Given the description of an element on the screen output the (x, y) to click on. 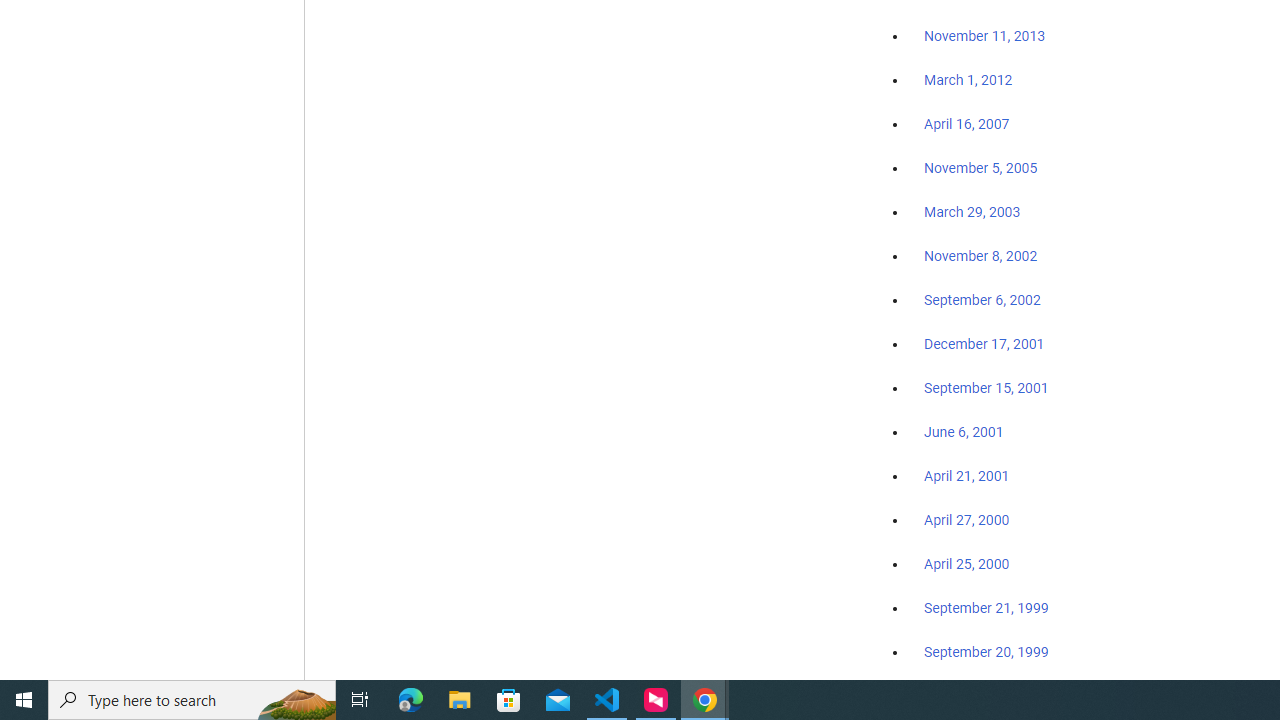
September 6, 2002 (982, 299)
March 1, 2012 (968, 81)
June 6, 2001 (963, 431)
March 29, 2003 (972, 212)
September 21, 1999 (986, 608)
September 15, 2001 (986, 387)
April 25, 2000 (966, 564)
September 20, 1999 (986, 651)
December 17, 2001 (984, 343)
April 27, 2000 (966, 520)
November 11, 2013 (984, 37)
November 5, 2005 (981, 168)
April 21, 2001 (966, 476)
November 8, 2002 (981, 255)
April 16, 2007 (966, 124)
